Given the description of an element on the screen output the (x, y) to click on. 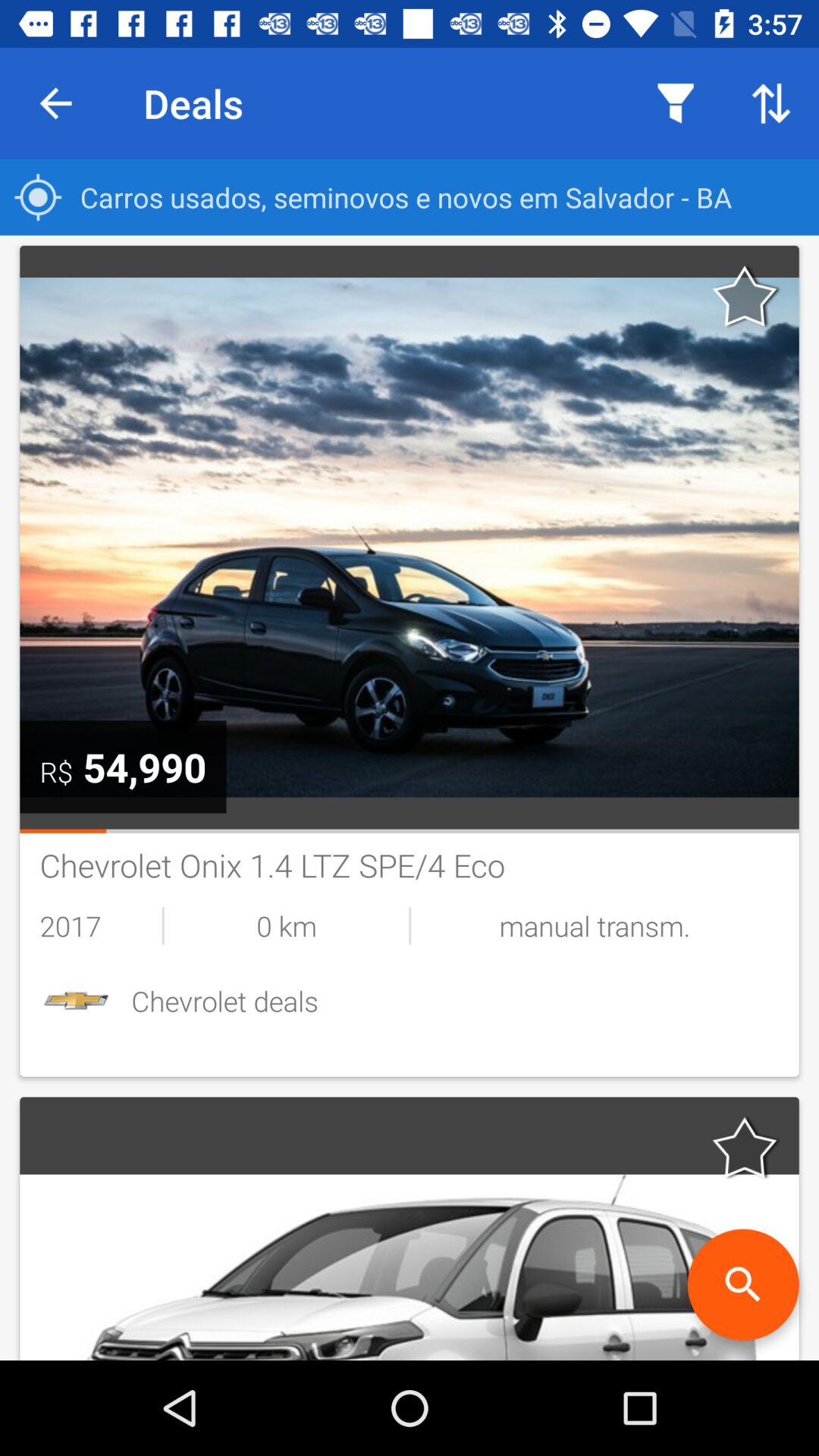
choose the item next to deals item (55, 103)
